Given the description of an element on the screen output the (x, y) to click on. 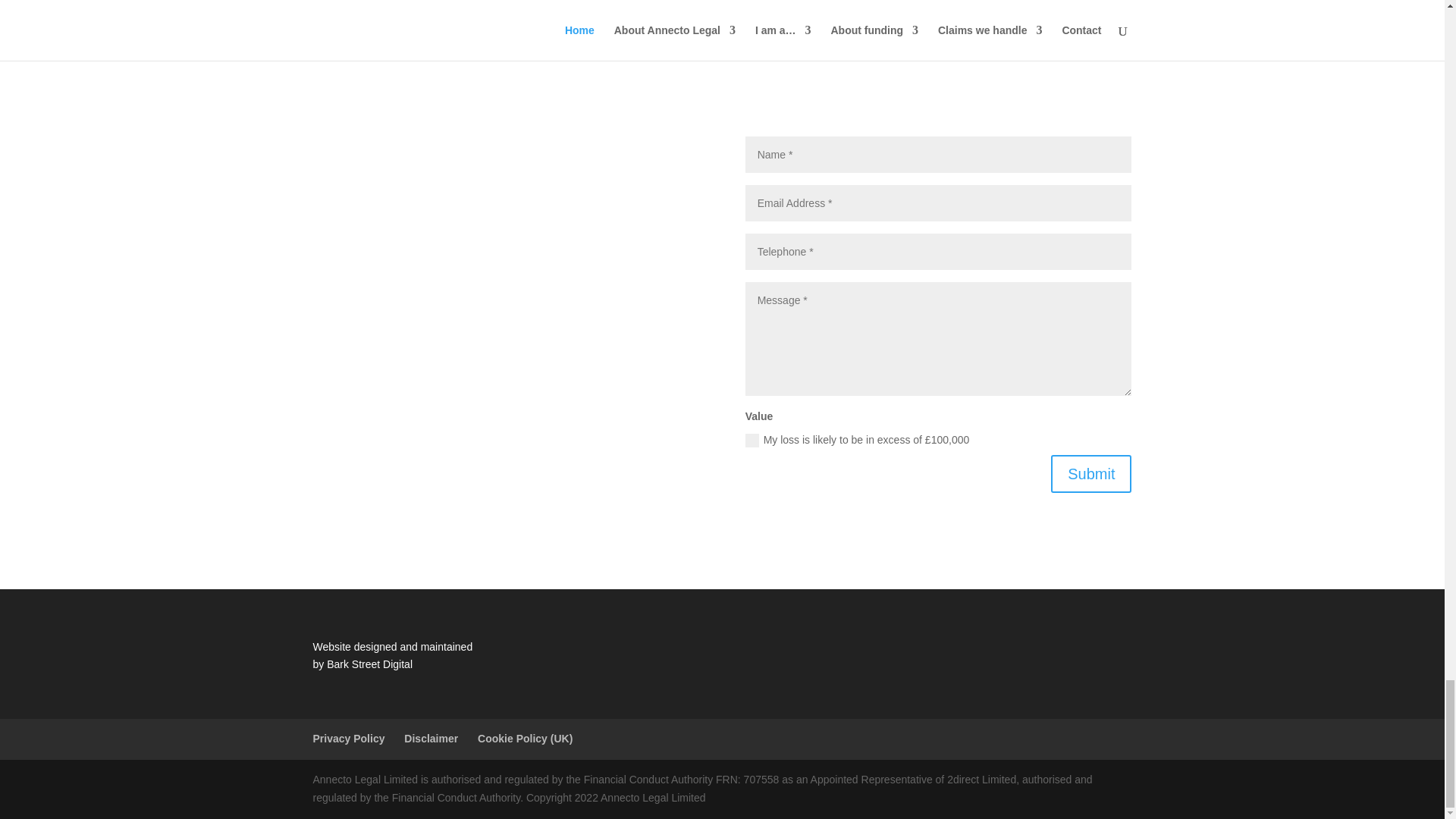
Follow on X (491, 426)
Follow on LinkedIn (521, 426)
